Given the description of an element on the screen output the (x, y) to click on. 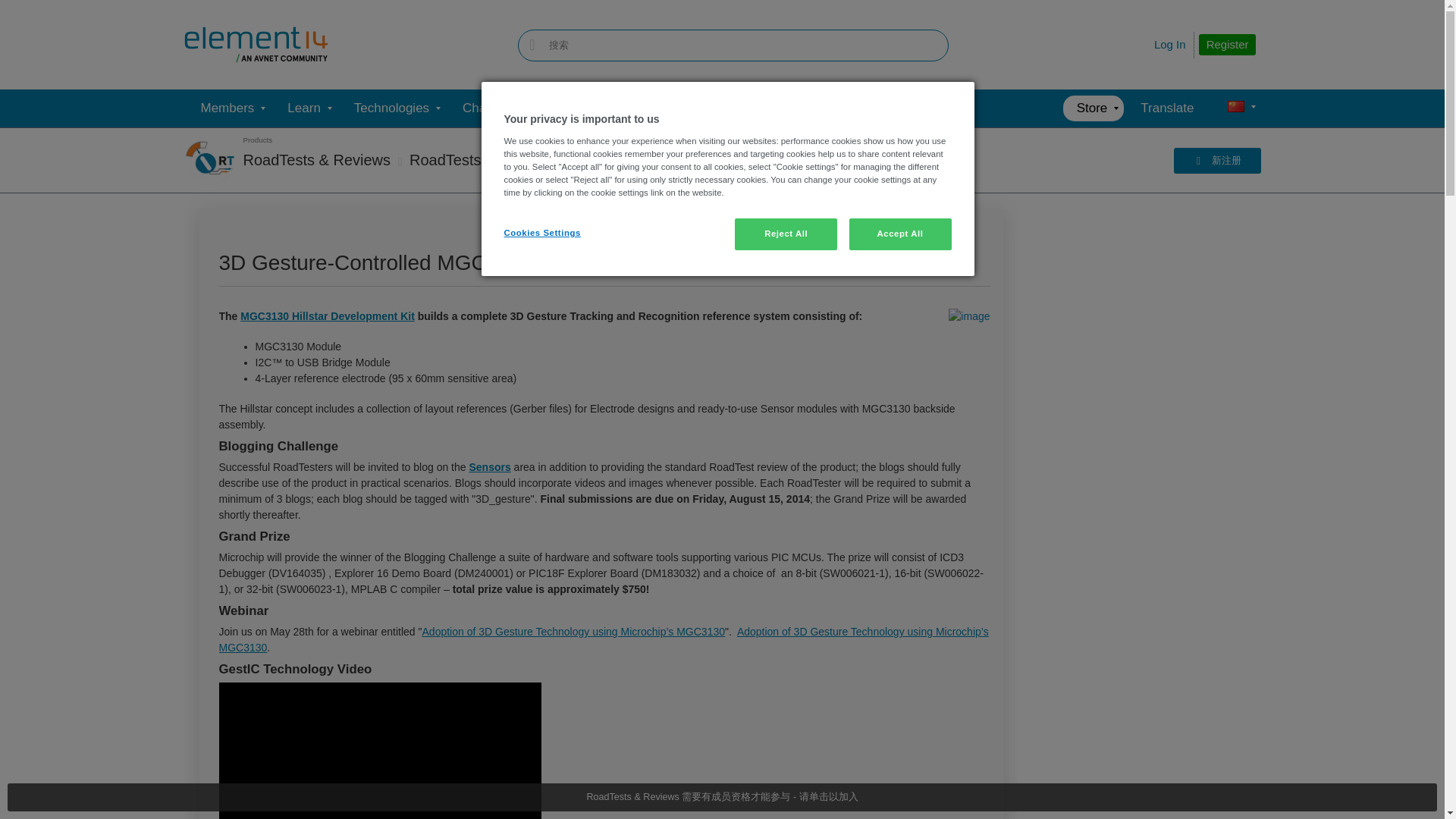
Log In (1170, 44)
Log In (1170, 44)
Register (1226, 44)
Members (226, 108)
Learn (303, 108)
Technologies (391, 108)
Register (1226, 44)
